Given the description of an element on the screen output the (x, y) to click on. 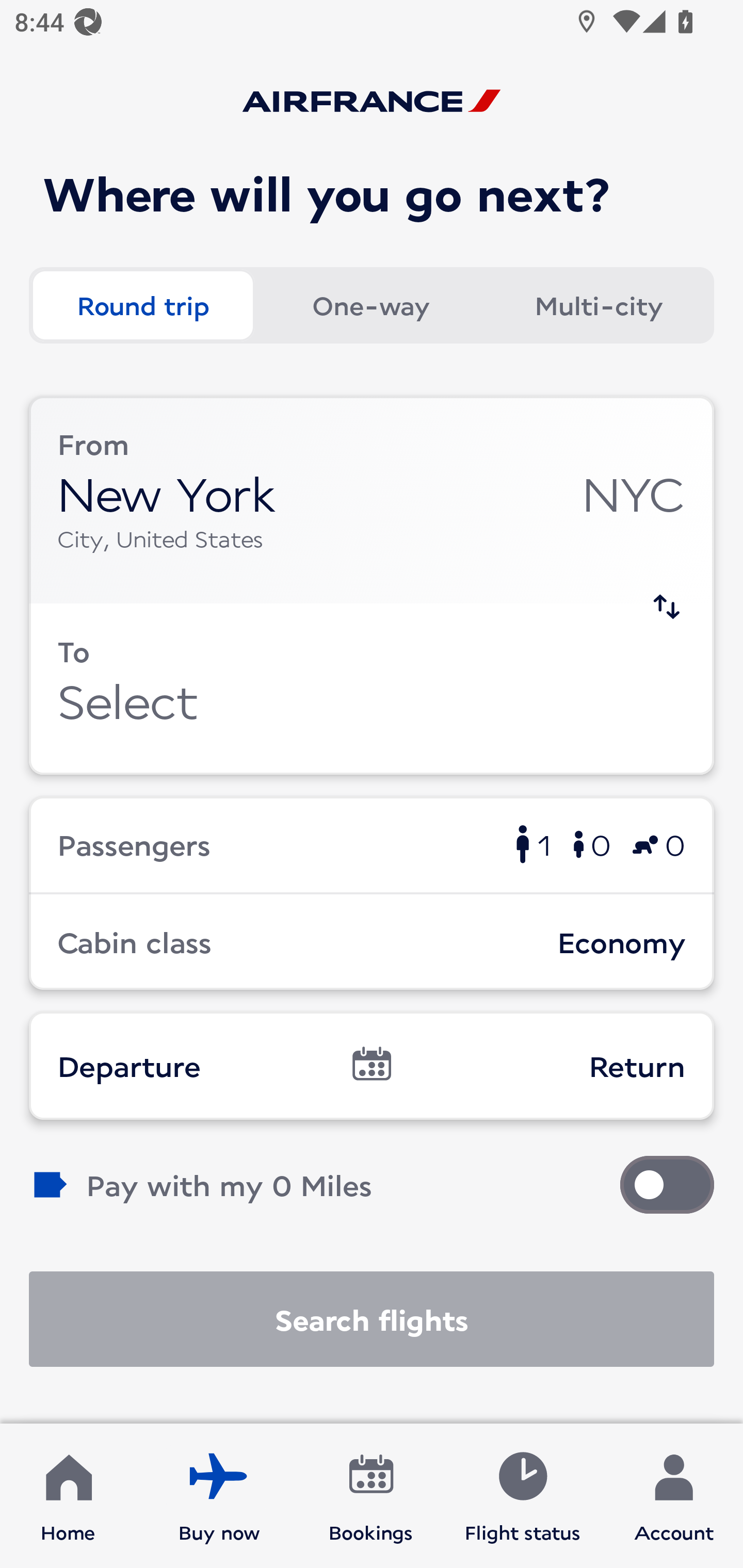
Round trip (142, 304)
One-way (370, 304)
Multi-city (598, 304)
From New York NYC City, United States (371, 499)
To Select (371, 688)
Passengers 1 0 0 (371, 844)
Cabin class Economy (371, 941)
Departure Return (371, 1065)
Search flights (371, 1319)
Home (68, 1495)
Bookings (370, 1495)
Flight status (522, 1495)
Account (674, 1495)
